Given the description of an element on the screen output the (x, y) to click on. 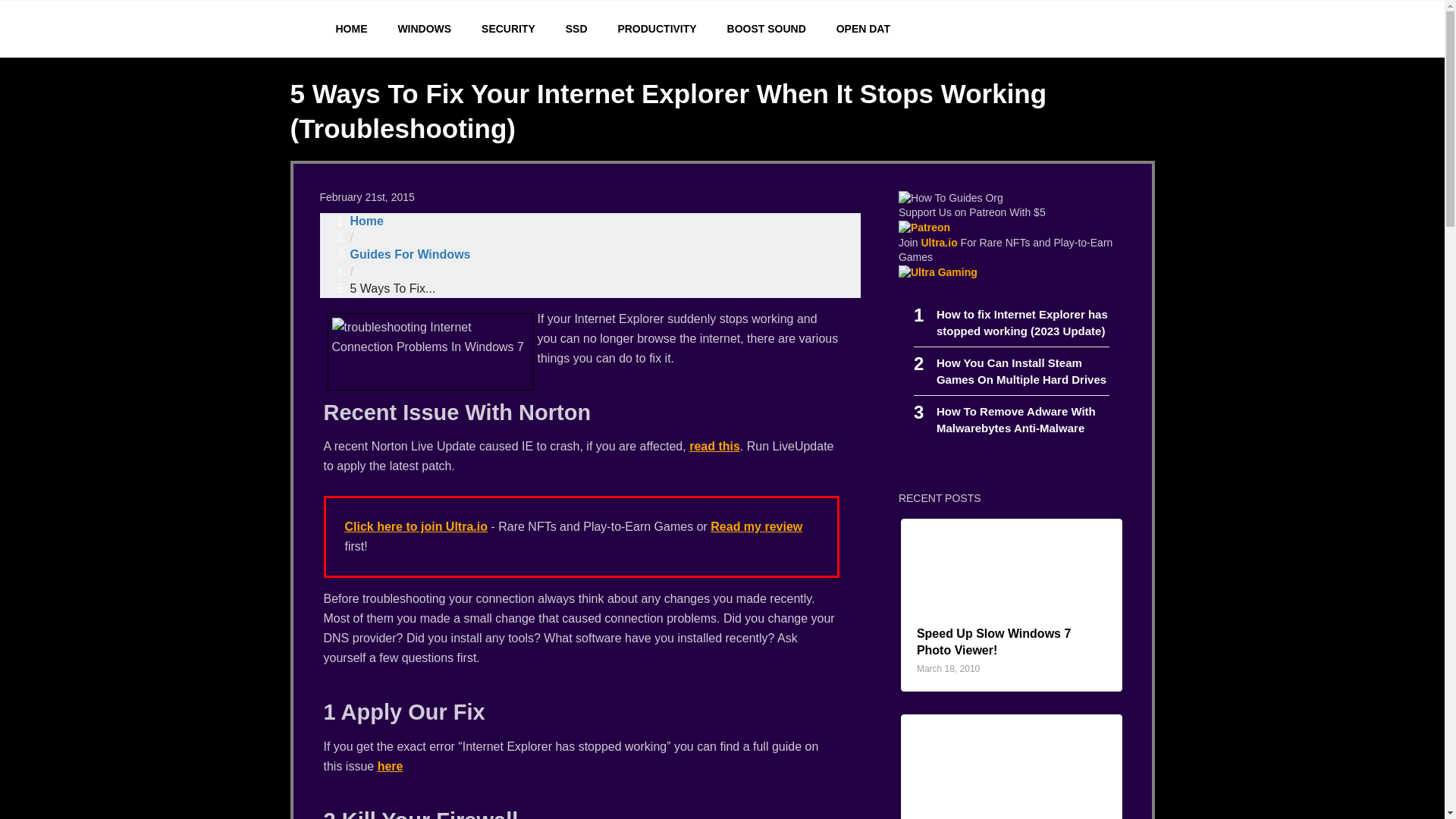
PRODUCTIVITY (656, 28)
Guides For Windows (410, 254)
SECURITY (508, 28)
Security Tweaks (1021, 370)
March 18, 2010 (508, 28)
Windows Tutorials (948, 668)
HowToGuides.Org (424, 28)
Speed Up Slow Windows 7 Photo Viewer! (950, 198)
WINDOWS (993, 641)
